Given the description of an element on the screen output the (x, y) to click on. 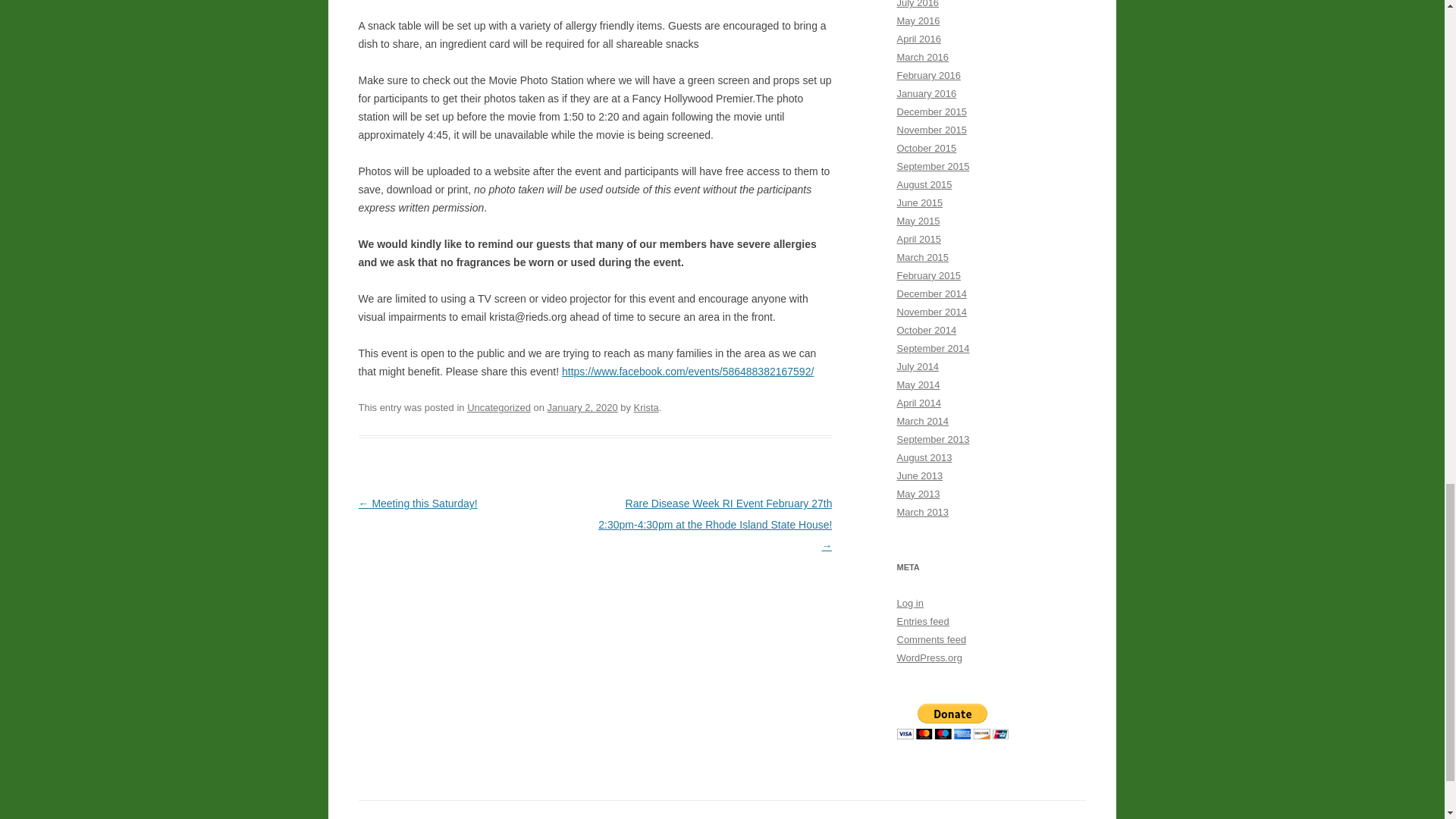
View all posts by Krista (646, 407)
Krista (646, 407)
January 2, 2020 (582, 407)
3:09 pm (582, 407)
Uncategorized (499, 407)
